Given the description of an element on the screen output the (x, y) to click on. 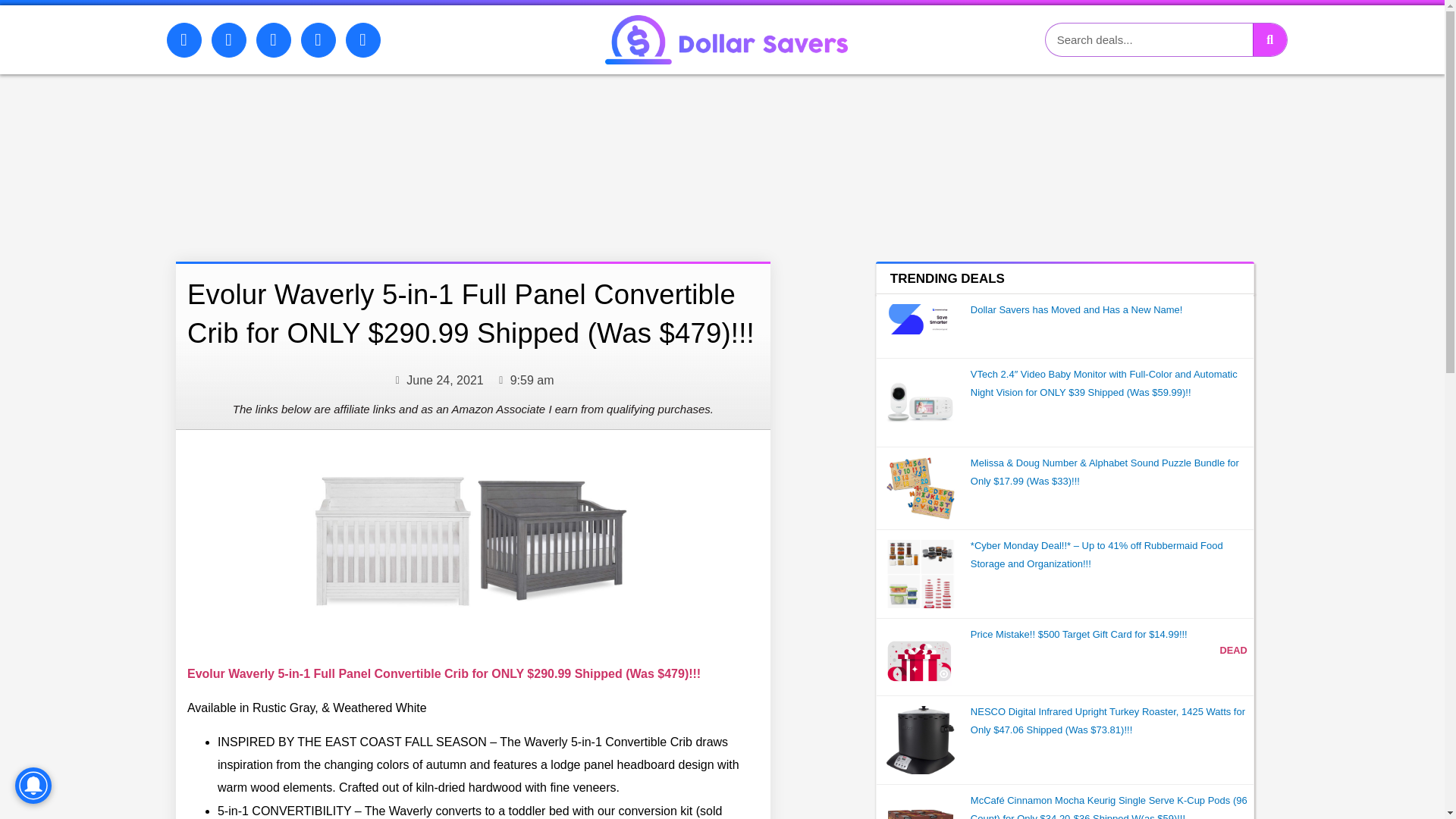
Advertisement (429, 153)
Search (1148, 39)
June 24, 2021 (437, 380)
DEAD (1233, 649)
Search (1269, 39)
Dollar Savers has Moved and Has a New Name! (1076, 309)
